Given the description of an element on the screen output the (x, y) to click on. 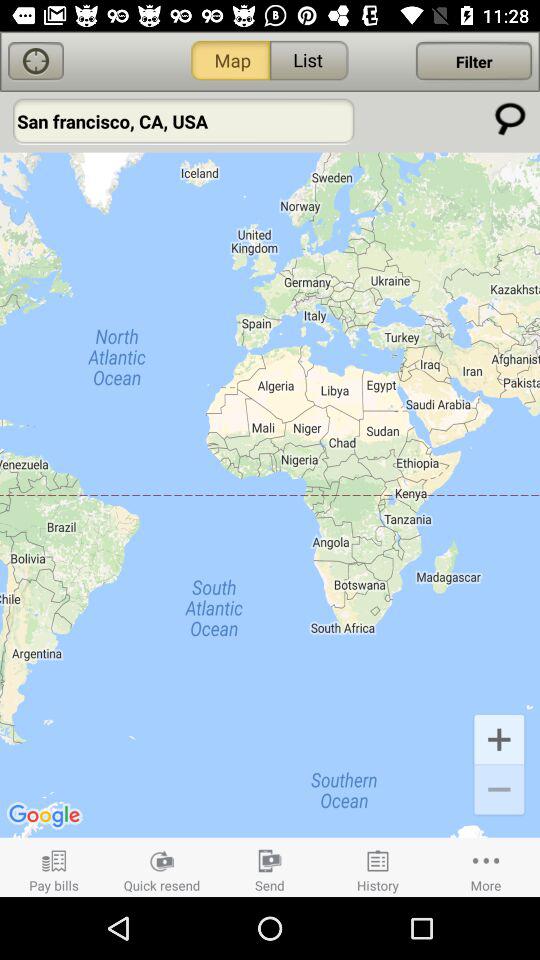
click to search option (509, 118)
